Given the description of an element on the screen output the (x, y) to click on. 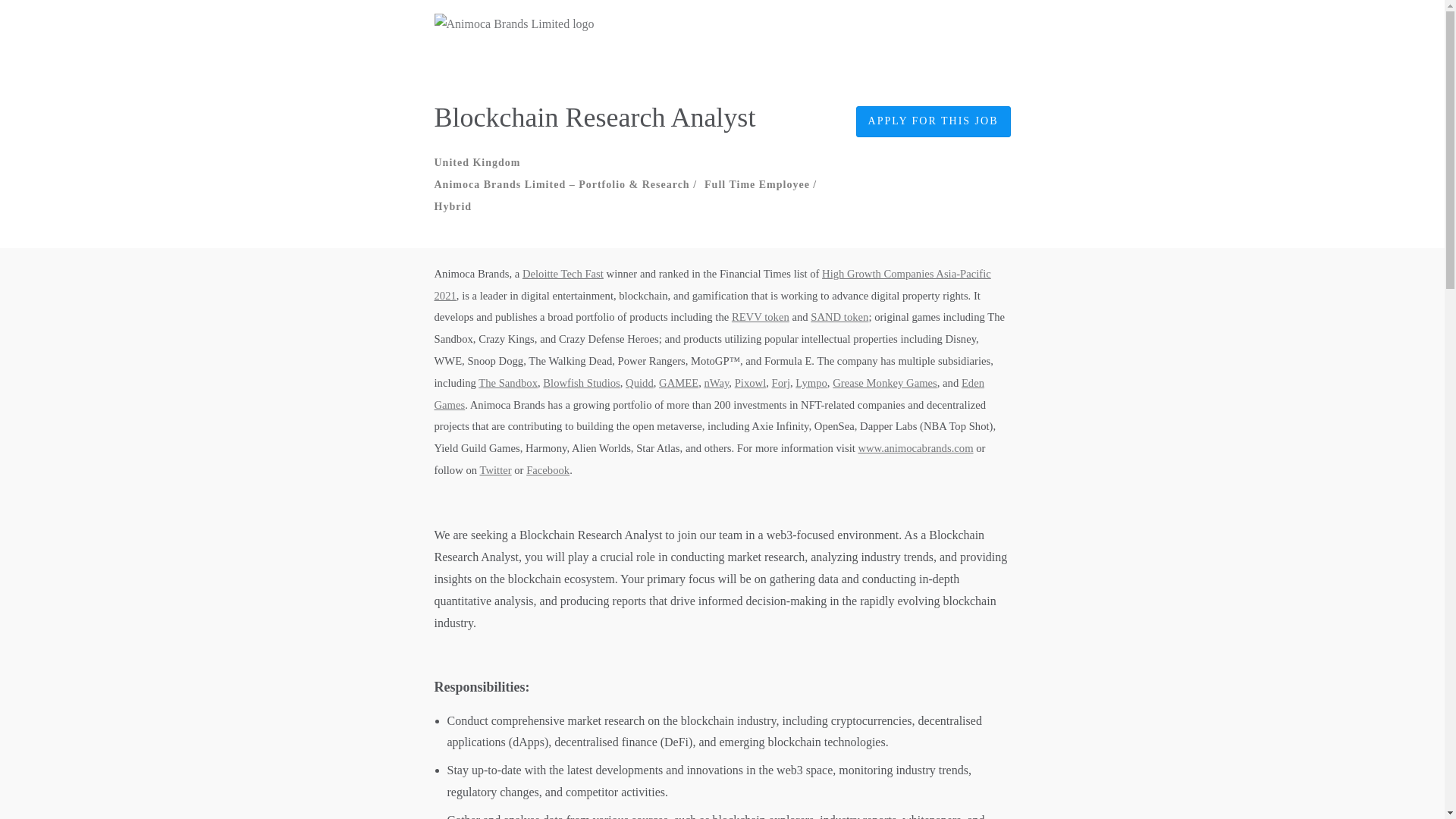
Facebook (547, 469)
Grease Monkey Games (884, 382)
Deloitte Tech Fast (563, 273)
SAND token (838, 316)
APPLY FOR THIS JOB (933, 121)
REVV token (760, 316)
nWay (716, 382)
Pixowl (751, 382)
Twitter (495, 469)
Quidd (639, 382)
High Growth Companies Asia-Pacific 2021 (711, 284)
www.animocabrands.com (914, 448)
The Sandbox (508, 382)
Eden Games (708, 393)
GAMEE (678, 382)
